Given the description of an element on the screen output the (x, y) to click on. 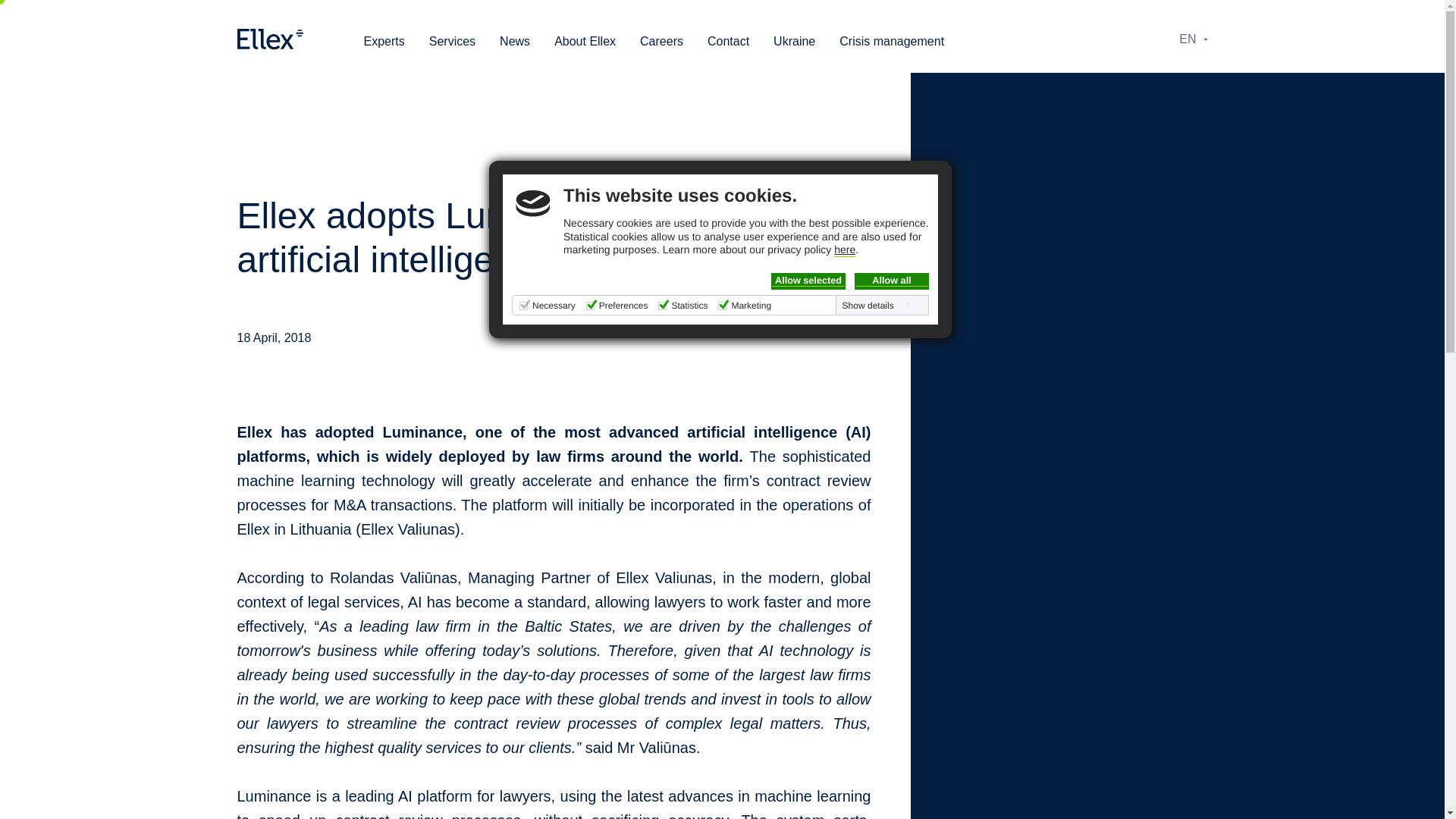
here (845, 250)
Allow all (891, 280)
Allow selected (808, 280)
Show details (876, 305)
